Given the description of an element on the screen output the (x, y) to click on. 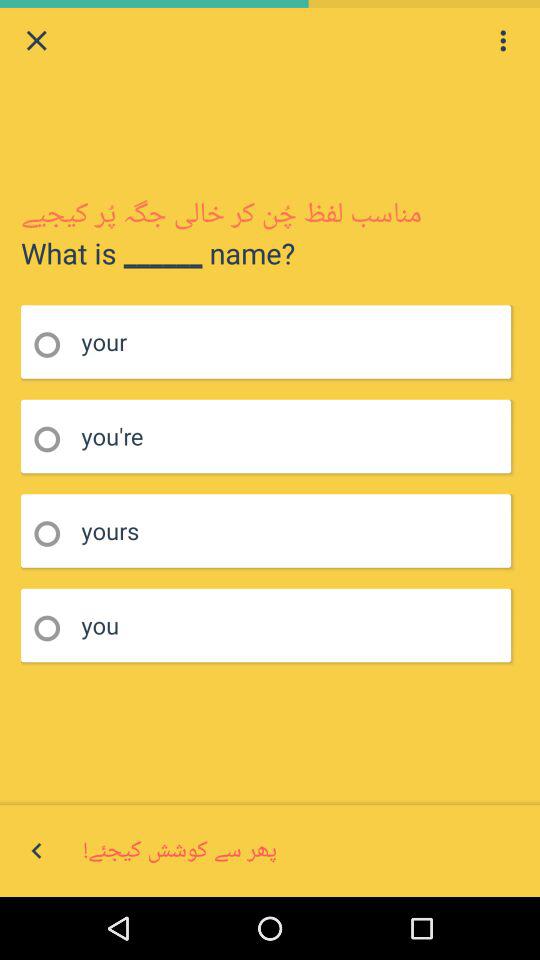
select word option (53, 533)
